Given the description of an element on the screen output the (x, y) to click on. 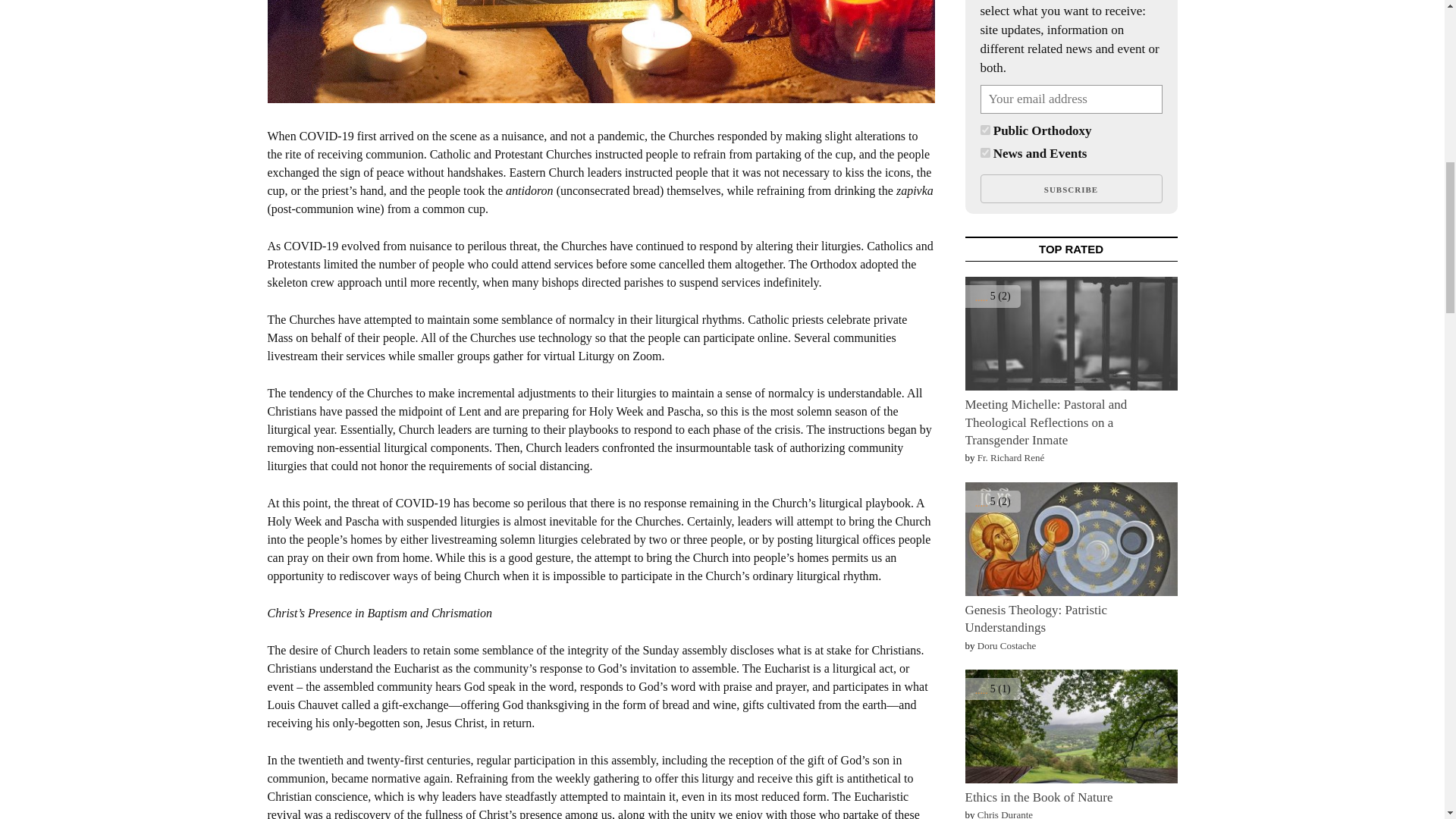
e724ddb604 (984, 153)
Subscribe (1070, 188)
80d59a5725 (984, 130)
